Given the description of an element on the screen output the (x, y) to click on. 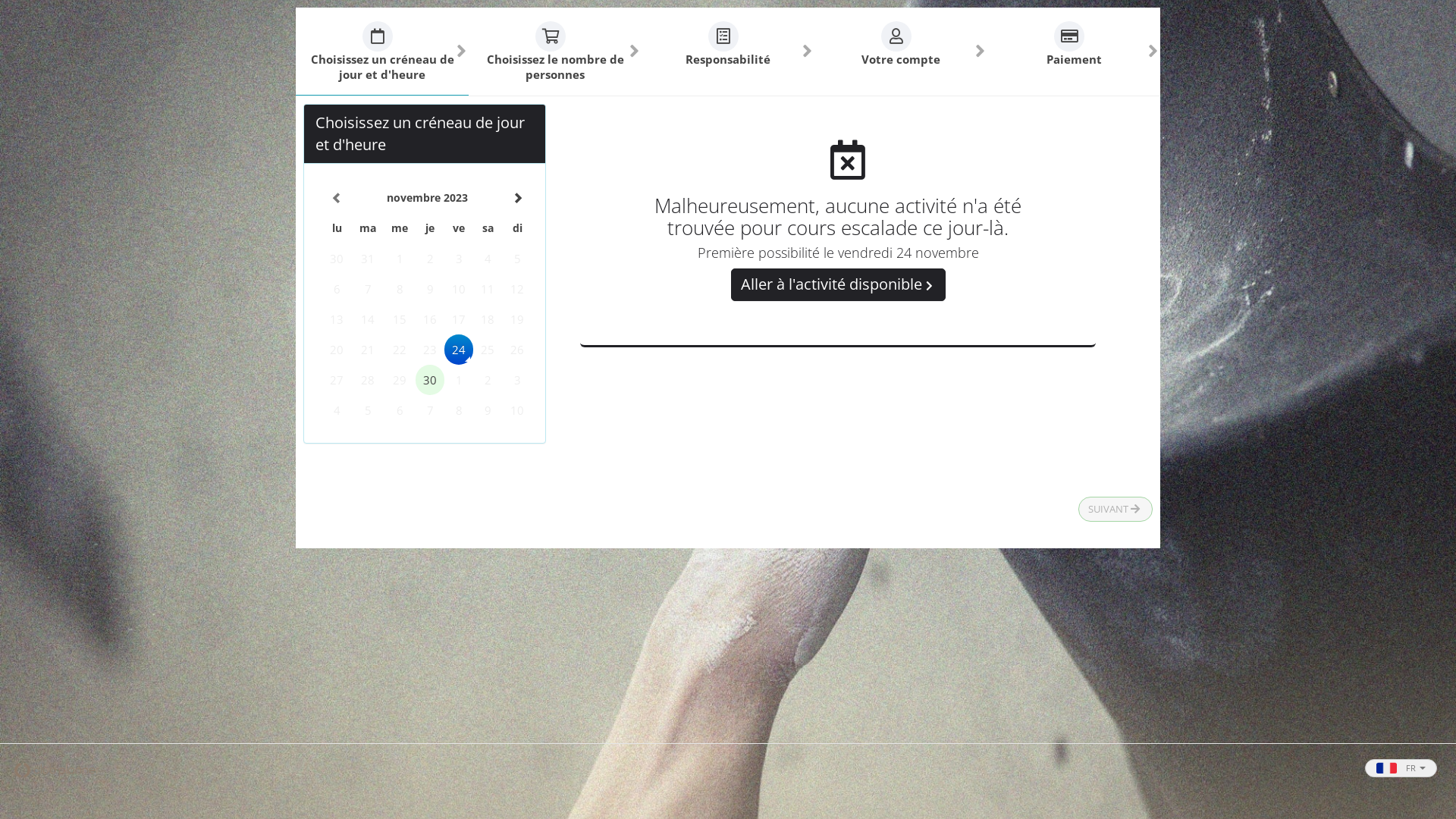
Next Month Element type: hover (516, 197)
SUIVANT Element type: text (1115, 508)
FR Element type: text (1401, 768)
Choisissez le nombre de personnes Element type: text (554, 51)
Previous Month Element type: hover (336, 197)
Votre compte Element type: text (900, 51)
Paiement Element type: text (1073, 51)
